Given the description of an element on the screen output the (x, y) to click on. 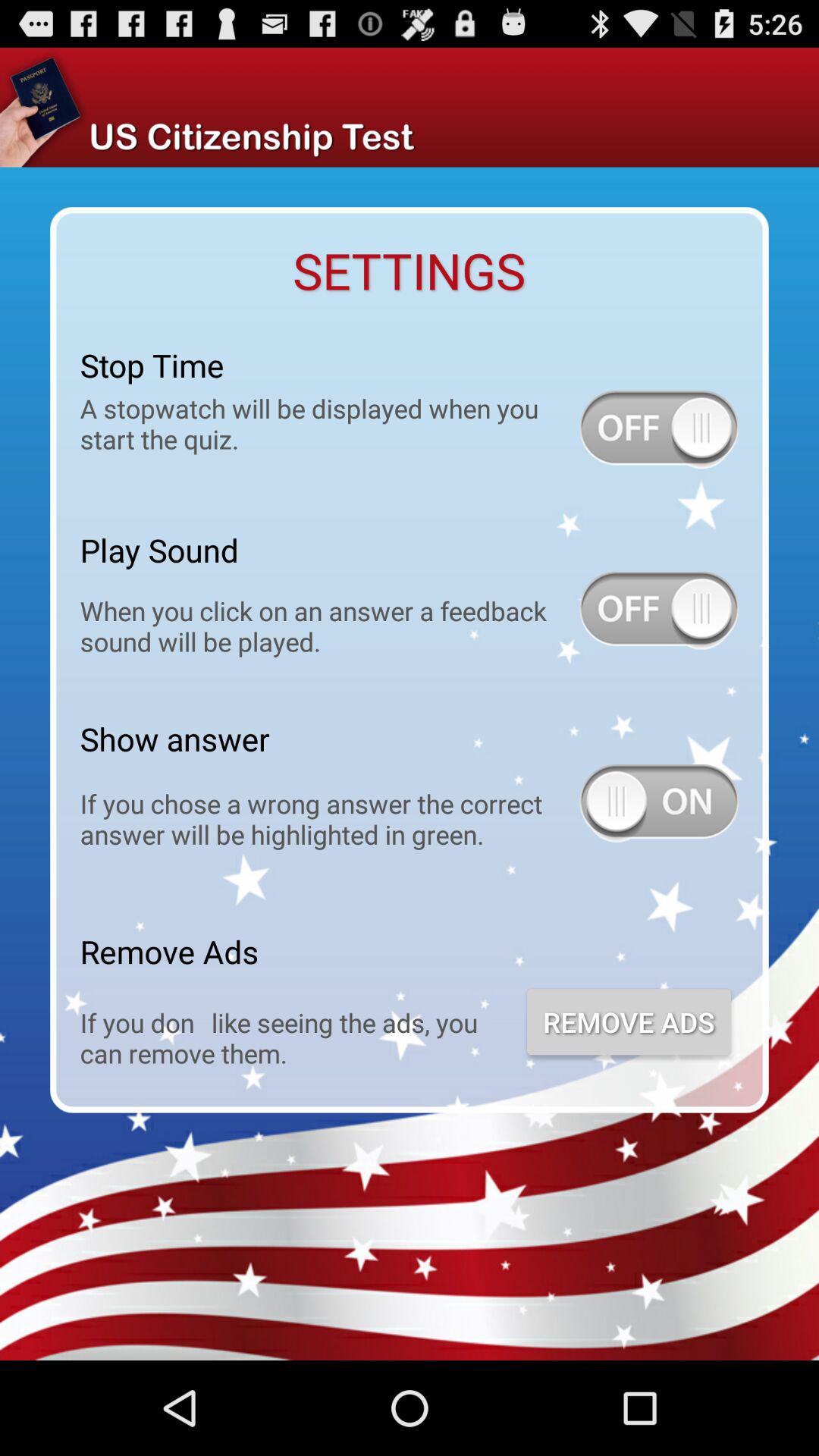
turn on sound when answering feedback (658, 610)
